Given the description of an element on the screen output the (x, y) to click on. 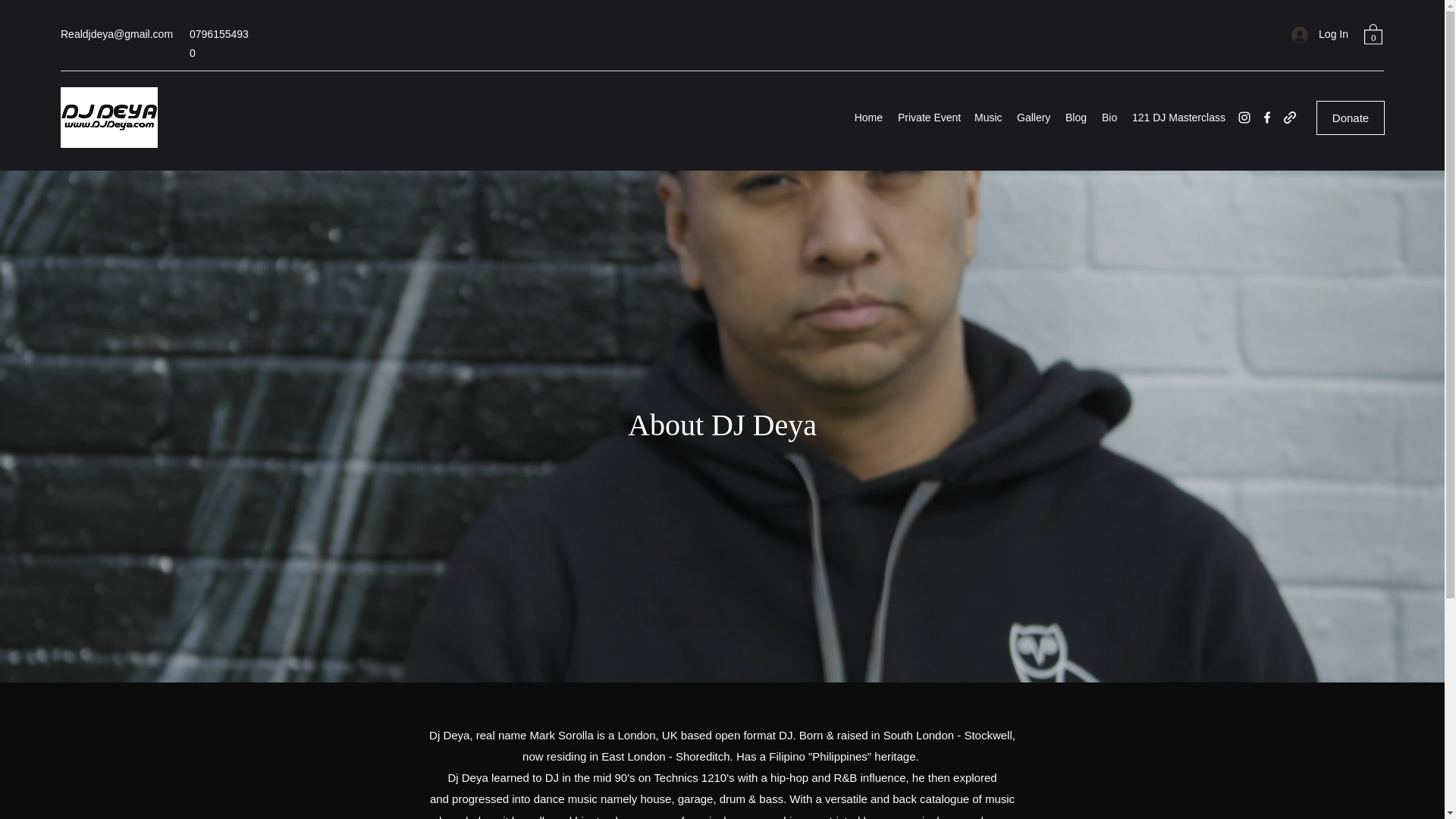
Blog (1075, 117)
Music (987, 117)
121 DJ Masterclass (1176, 117)
Log In (1319, 34)
Home (867, 117)
Private Event (927, 117)
Gallery (1033, 117)
Donate (1350, 117)
Bio (1109, 117)
